Given the description of an element on the screen output the (x, y) to click on. 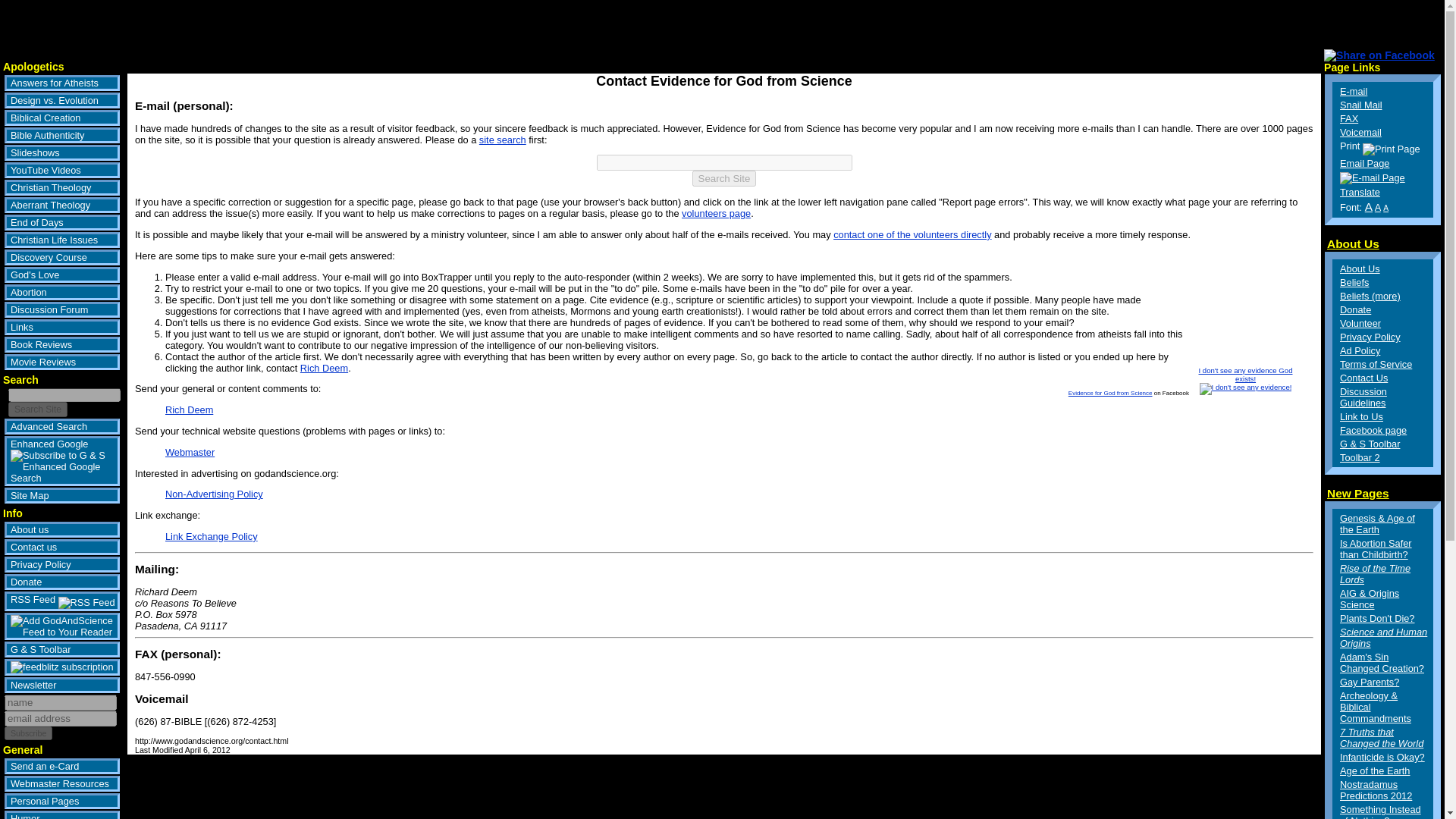
contact one of the volunteers directly (911, 234)
Abortion (61, 292)
Contact us (61, 546)
Book Reviews (61, 344)
Christian Life Issues (61, 239)
Evidence for God from Science (1110, 392)
Site Map (61, 495)
Discovery Course (61, 257)
Christian Theology (61, 187)
Subscribe (28, 733)
